Given the description of an element on the screen output the (x, y) to click on. 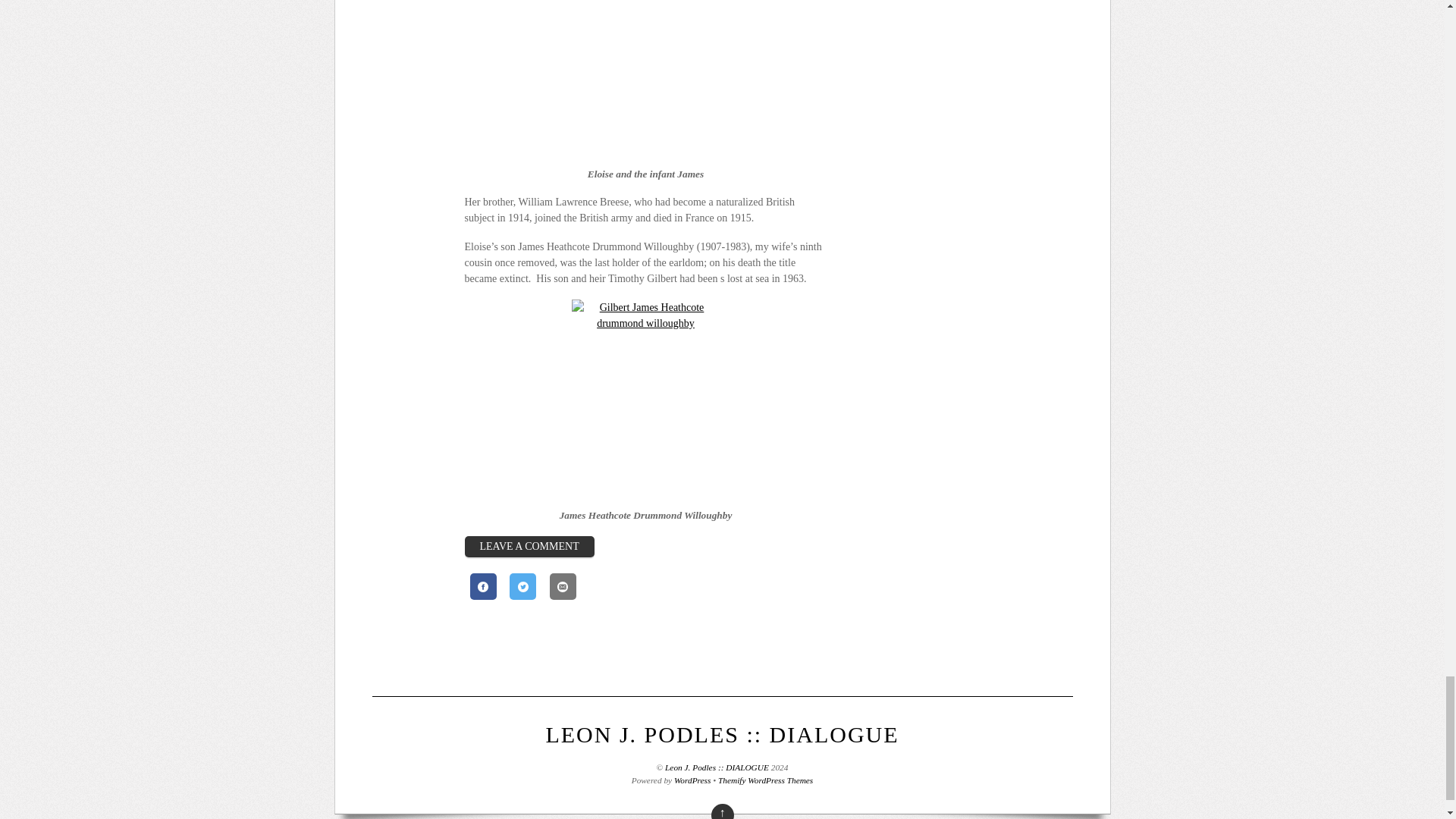
LEAVE A COMMENT (529, 546)
